Given the description of an element on the screen output the (x, y) to click on. 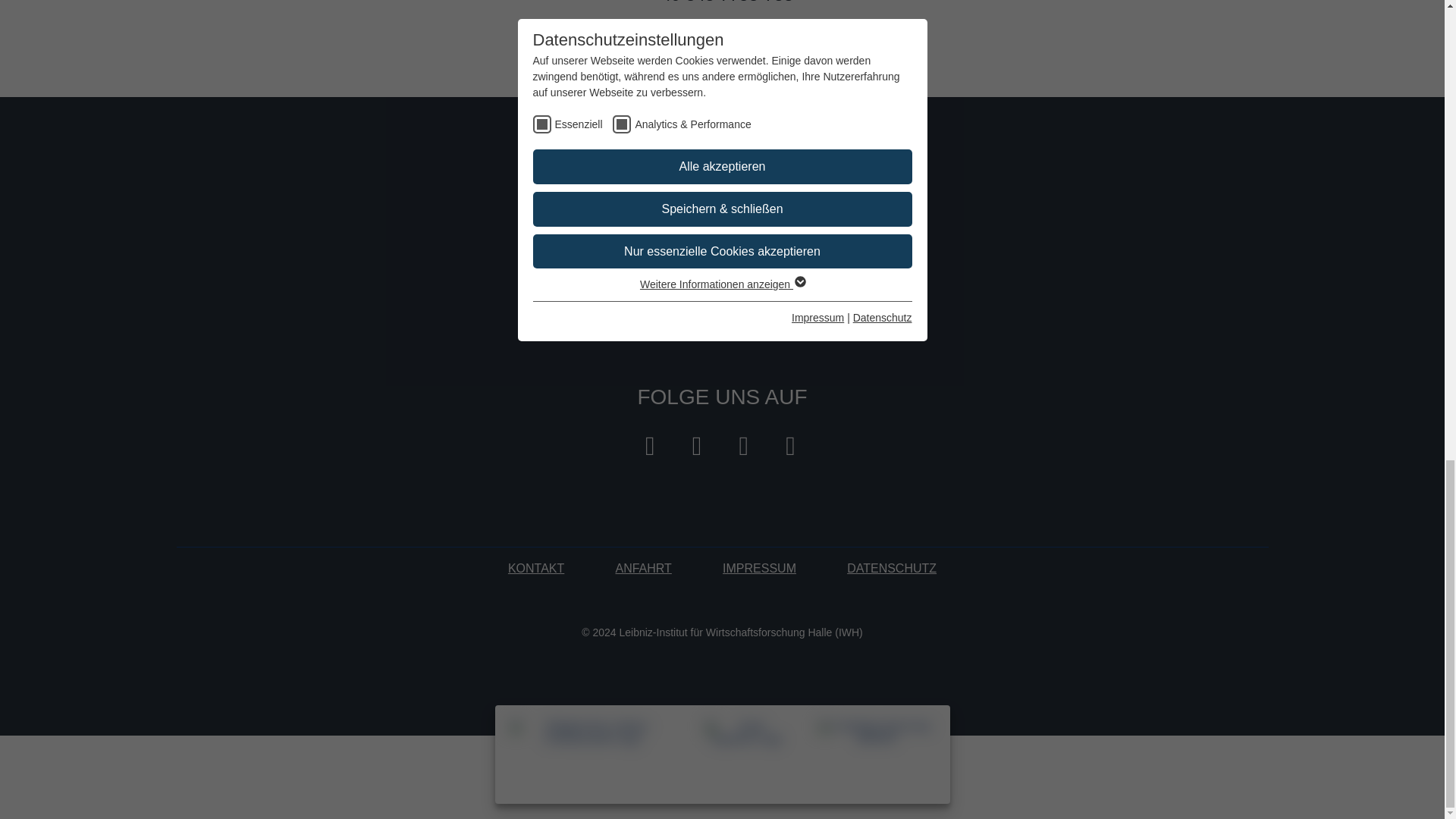
absenden (839, 251)
